Given the description of an element on the screen output the (x, y) to click on. 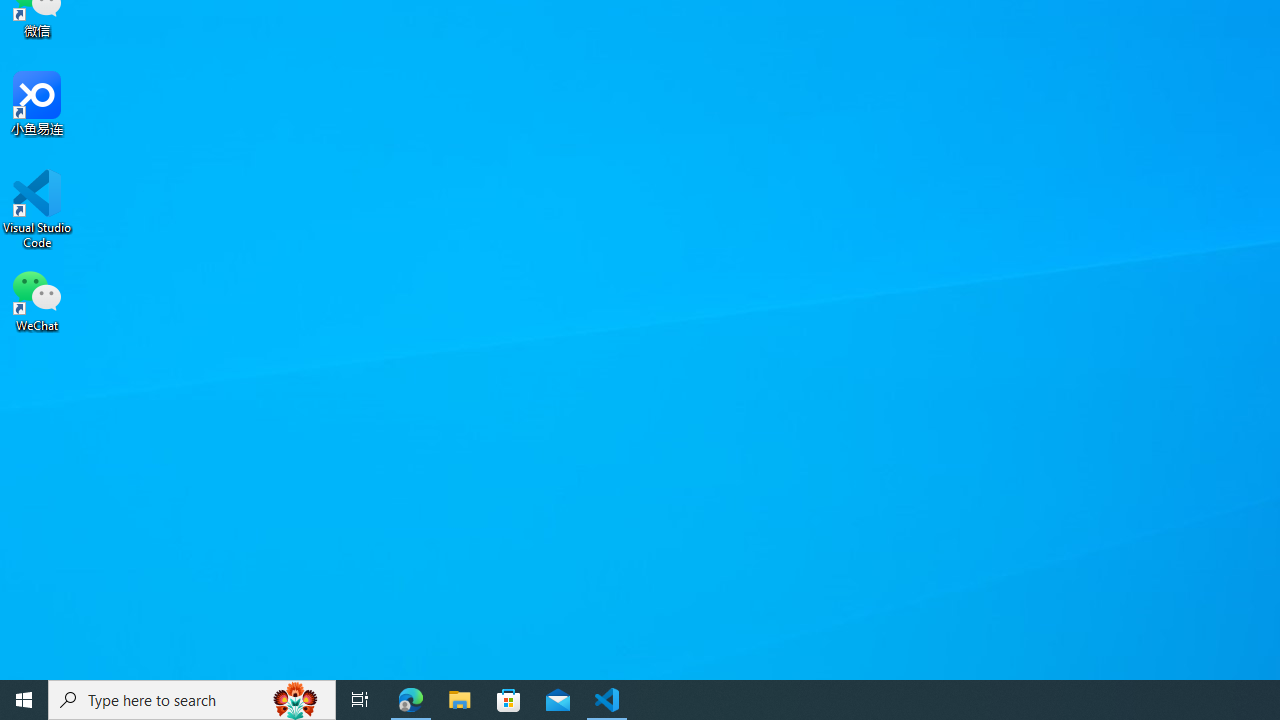
File Explorer (460, 699)
Visual Studio Code (37, 209)
Visual Studio Code - 1 running window (607, 699)
WeChat (37, 299)
Microsoft Store (509, 699)
Search highlights icon opens search home window (295, 699)
Microsoft Edge - 1 running window (411, 699)
Task View (359, 699)
Type here to search (191, 699)
Start (24, 699)
